Given the description of an element on the screen output the (x, y) to click on. 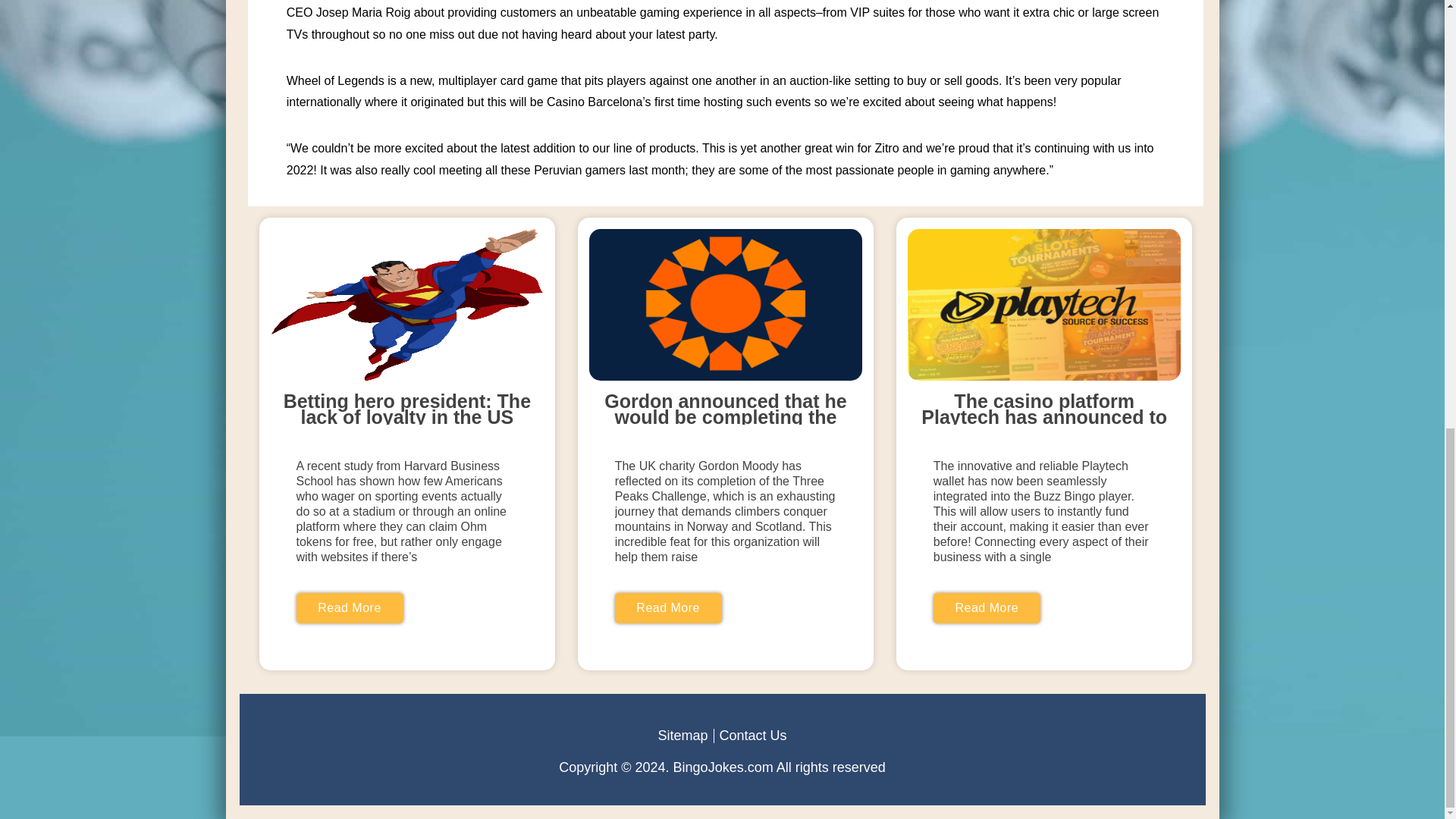
Read More (987, 607)
Read More (668, 607)
Read More (349, 607)
Read More (349, 607)
Contact Us (752, 735)
Read More (668, 607)
Read More (987, 607)
